Given the description of an element on the screen output the (x, y) to click on. 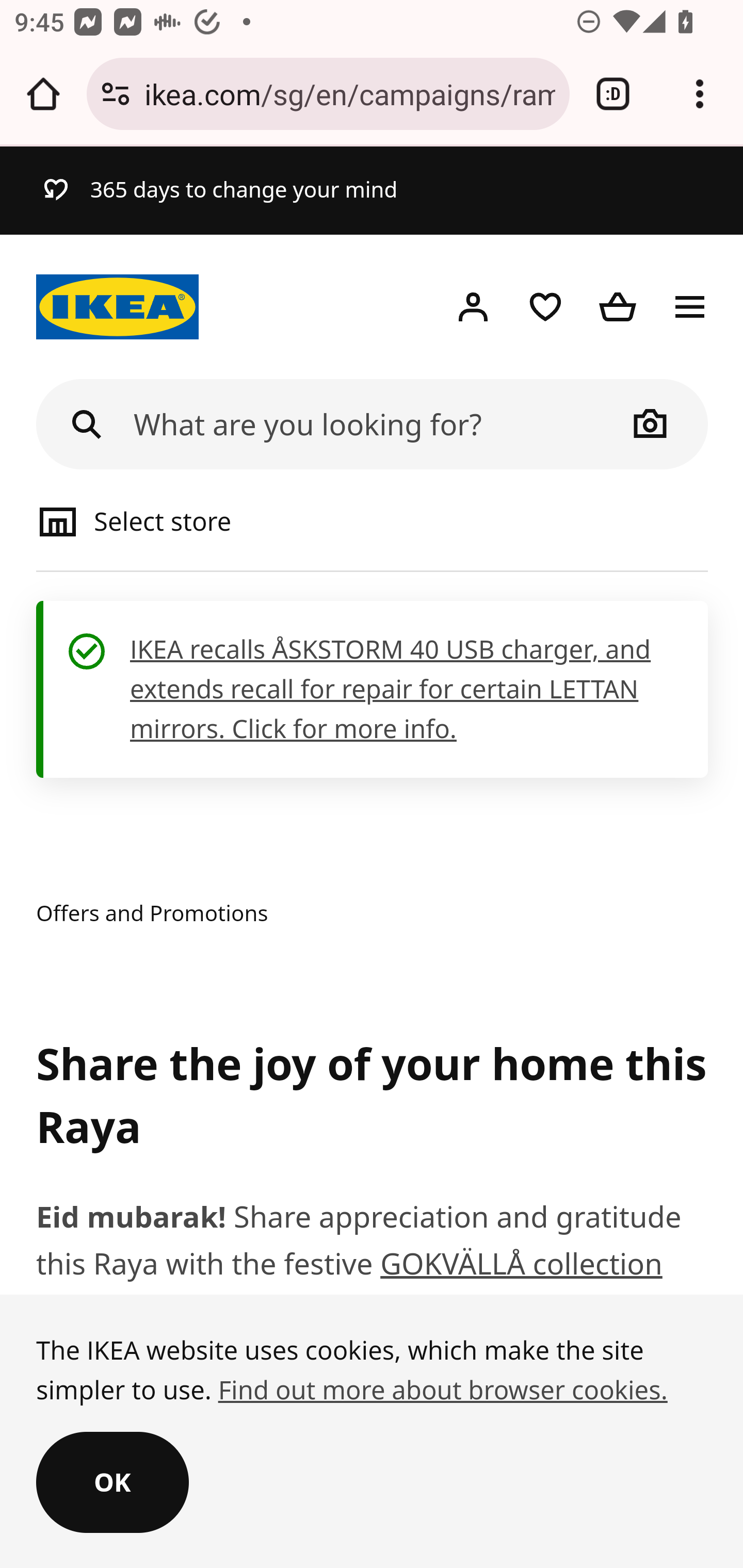
Open the home page (43, 93)
Connection is secure (115, 93)
Switch or close tabs (612, 93)
Customize and control Google Chrome (699, 93)
365 days to change your mind (218, 189)
profile (472, 307)
Shopping list (544, 307)
Shopping cart (618, 307)
Menu (690, 307)
IKEA logotype, go to start page (117, 307)
Search IKEA products using a photo (650, 423)
Select store (204, 520)
Offers and Promotions (152, 912)
GOKVÄLLÅ collection (520, 1264)
Find out more about browser cookies. (441, 1390)
OK (112, 1483)
